Given the description of an element on the screen output the (x, y) to click on. 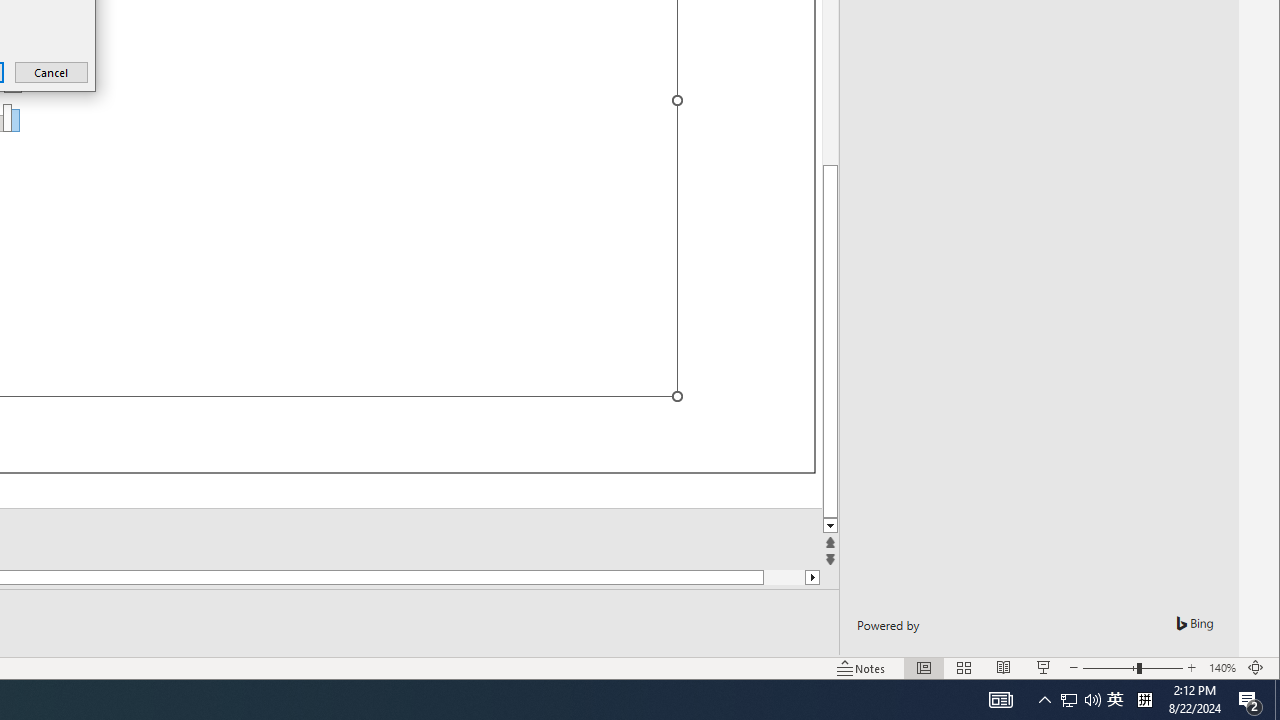
Zoom 140% (1222, 668)
